Given the description of an element on the screen output the (x, y) to click on. 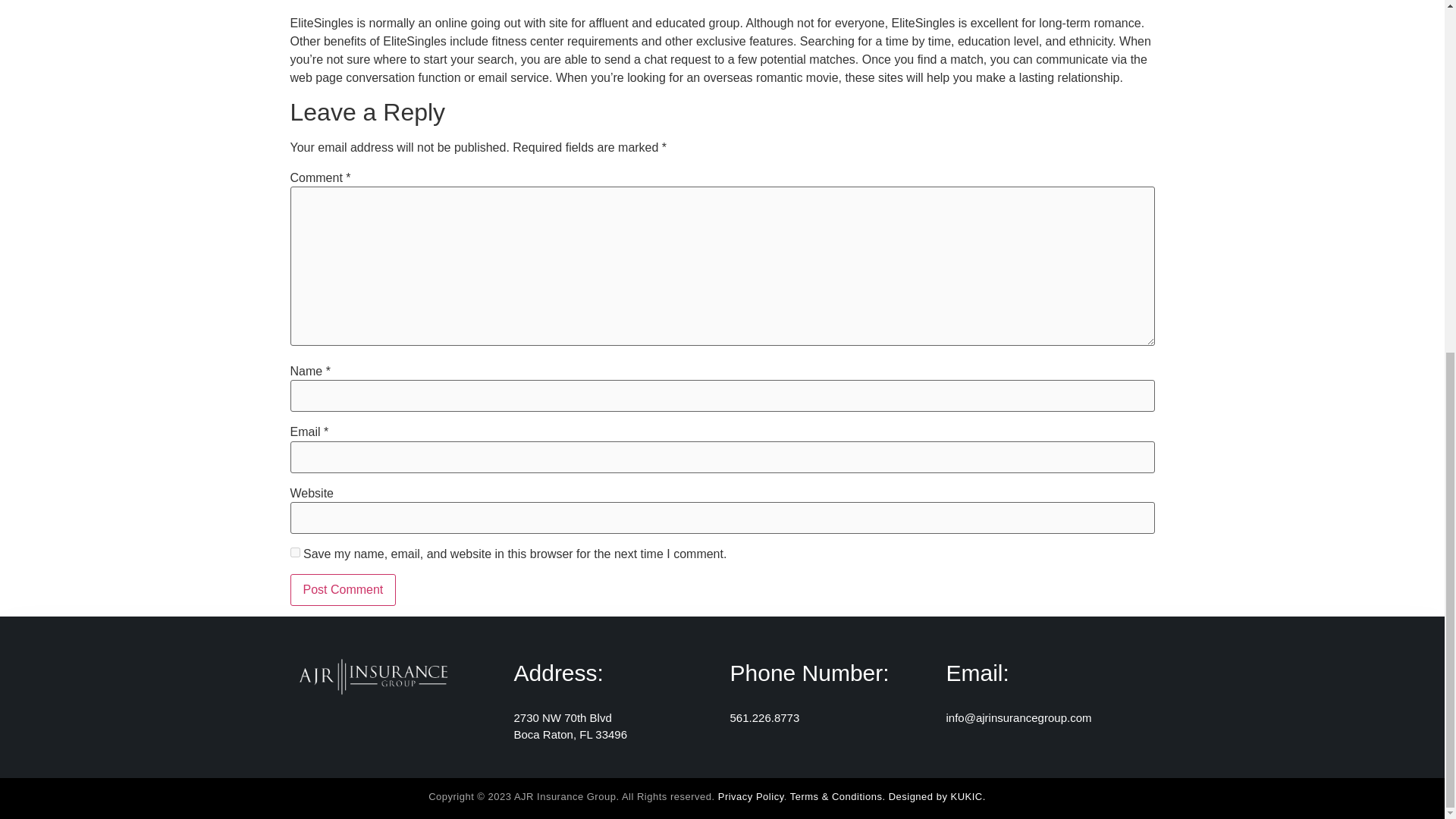
yes (294, 552)
Post Comment (342, 590)
Boca Raton, FL 33496 (570, 734)
561.226.8773 (764, 717)
2730 NW 70th Blvd (562, 717)
Privacy Policy (750, 796)
Designed by KUKIC. (936, 796)
Post Comment (342, 590)
